Given the description of an element on the screen output the (x, y) to click on. 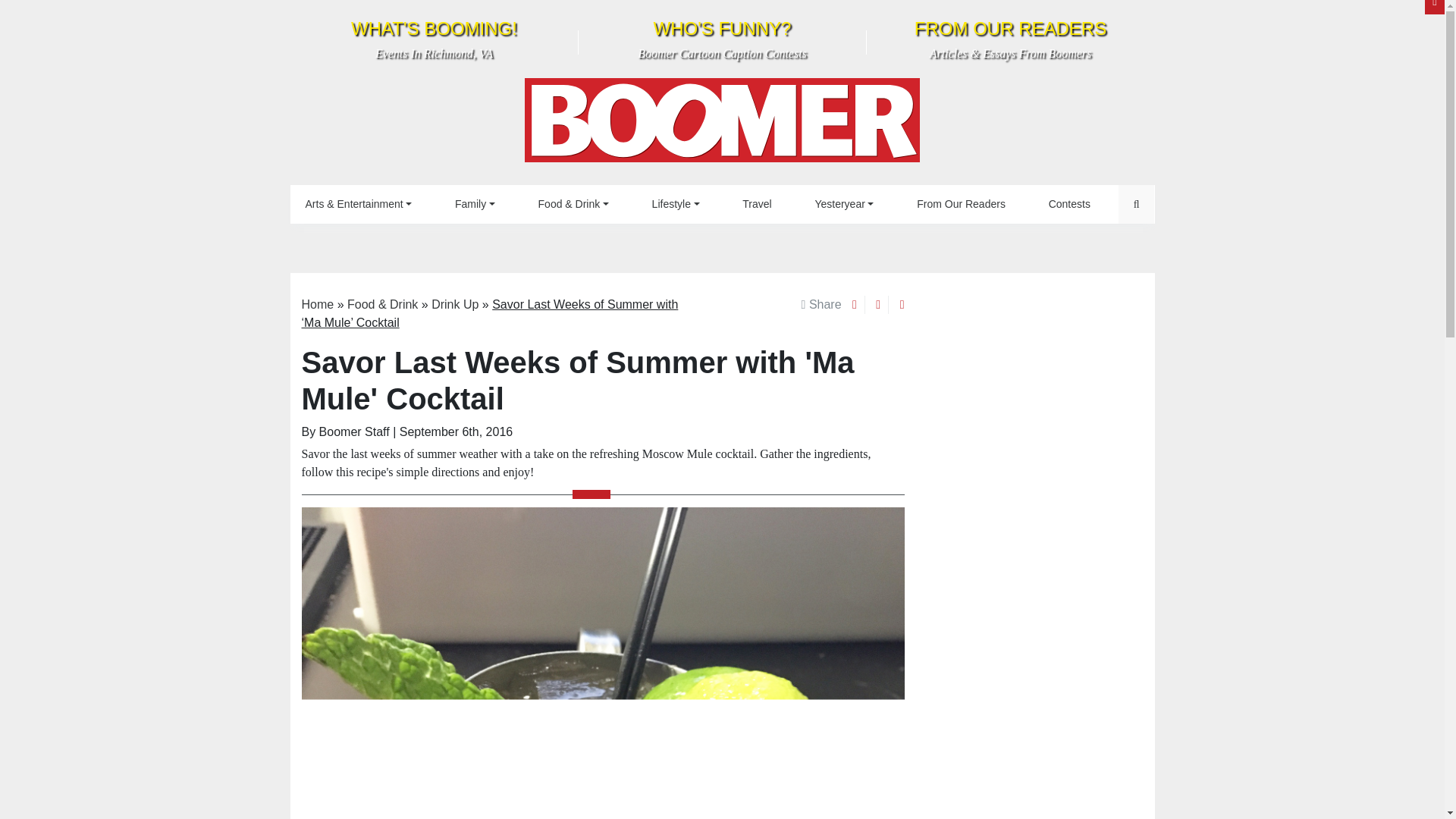
BOOMER Magazine (434, 39)
Family (722, 124)
Contests (722, 39)
Lifestyle (475, 204)
Yesteryear (1069, 204)
Family (675, 204)
From Our Readers (843, 204)
Travel (475, 204)
